Given the description of an element on the screen output the (x, y) to click on. 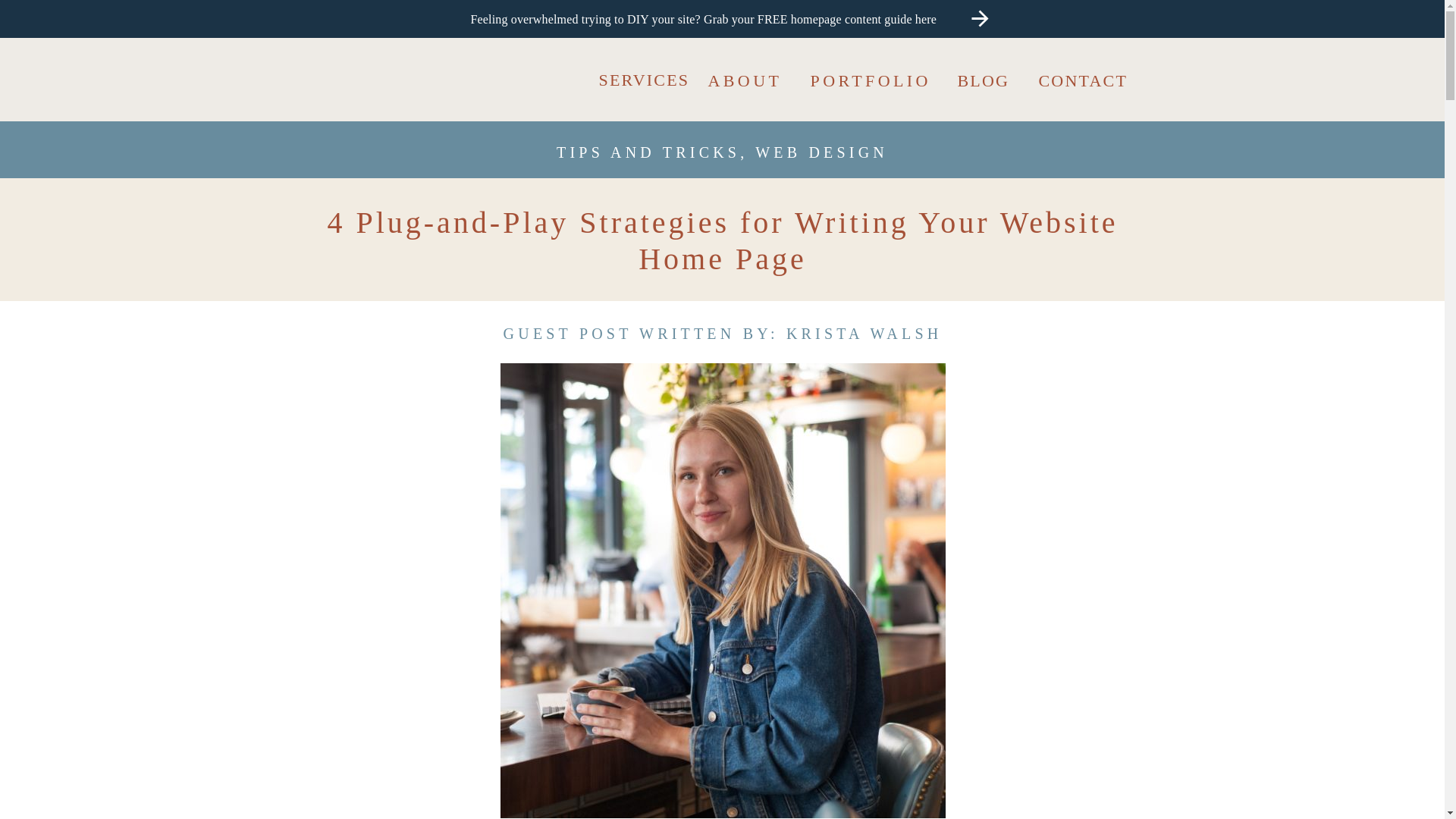
ABOUT (749, 78)
WEB DESIGN (821, 152)
SERVICES (642, 77)
CONTACT (1093, 79)
PORTFOLIO (873, 79)
BLOG (986, 79)
TIPS AND TRICKS (647, 152)
